Given the description of an element on the screen output the (x, y) to click on. 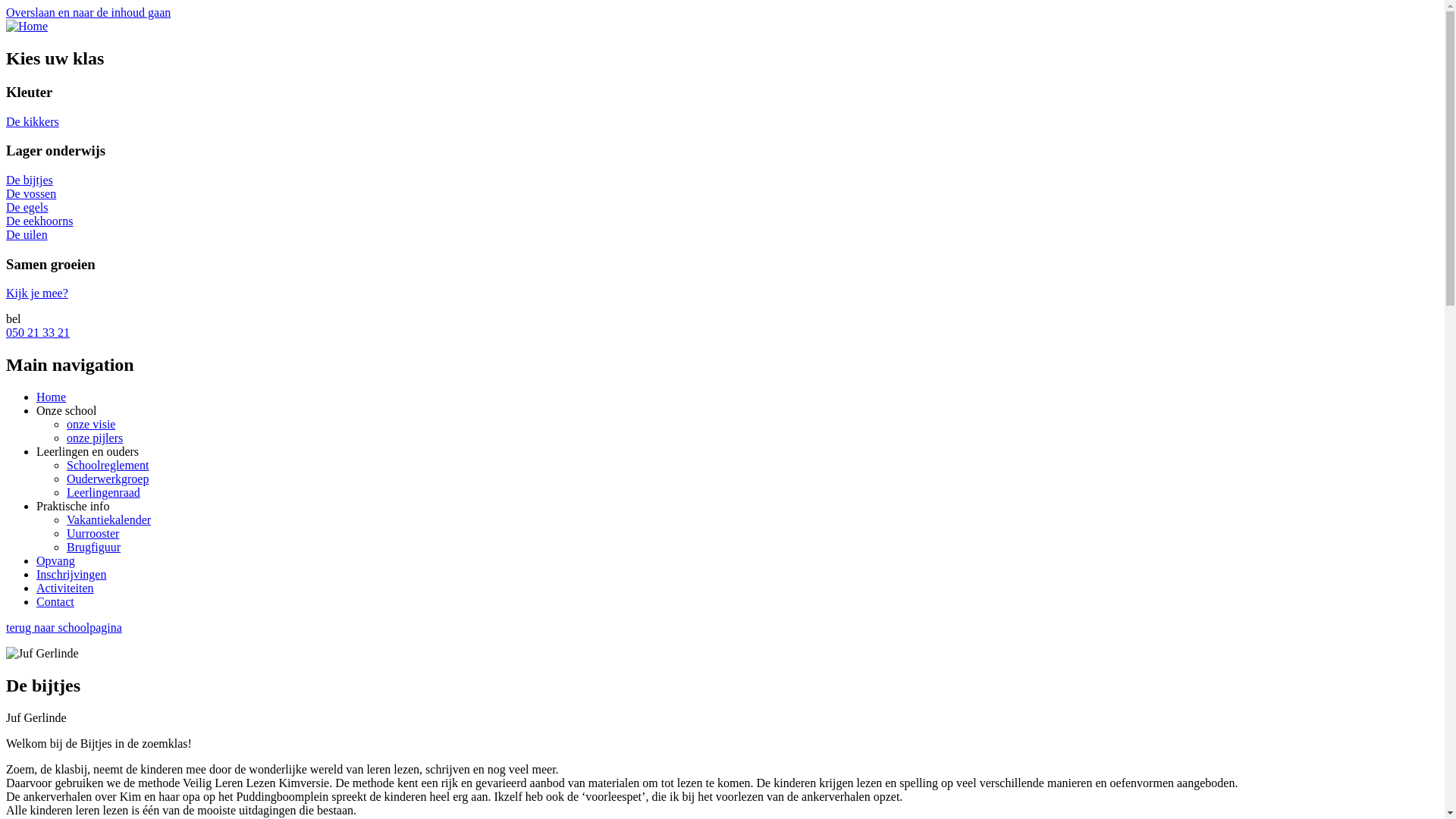
Vakantiekalender Element type: text (108, 519)
De bijtjes Element type: text (29, 179)
050 21 33 21 Element type: text (37, 332)
Overslaan en naar de inhoud gaan Element type: text (88, 12)
Ouderwerkgroep Element type: text (107, 478)
De vossen Element type: text (31, 193)
De egels Element type: text (27, 206)
onze pijlers Element type: text (94, 437)
Activiteiten Element type: text (65, 587)
Brugfiguur Element type: text (93, 546)
terug naar schoolpagina Element type: text (64, 627)
Uurrooster Element type: text (92, 533)
Inschrijvingen Element type: text (71, 573)
onze visie Element type: text (90, 423)
Kijk je mee? Element type: text (37, 292)
De uilen Element type: text (26, 234)
Schoolreglement Element type: text (107, 464)
Opvang Element type: text (55, 560)
Contact Element type: text (55, 601)
Home Element type: text (50, 396)
De kikkers Element type: text (32, 121)
De eekhoorns Element type: text (39, 220)
Leerlingenraad Element type: text (103, 492)
